Given the description of an element on the screen output the (x, y) to click on. 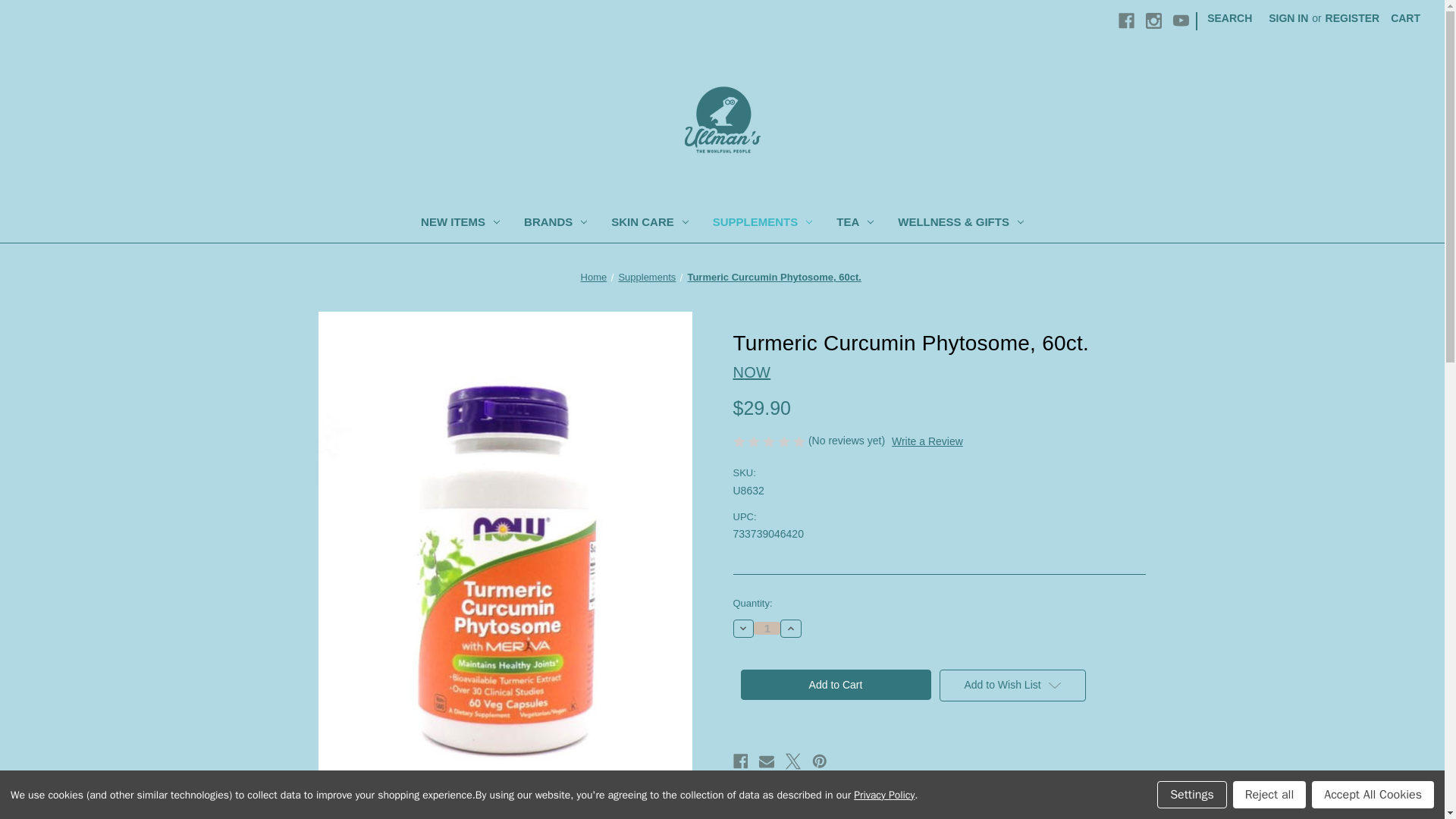
BRANDS (555, 223)
SEARCH (1229, 18)
CART (1404, 18)
NEW ITEMS (460, 223)
SIGN IN (1288, 18)
Facebook (1126, 20)
Youtube (1181, 20)
Instagram (1153, 20)
1 (767, 627)
Add to Cart (834, 684)
REGISTER (1353, 18)
